Given the description of an element on the screen output the (x, y) to click on. 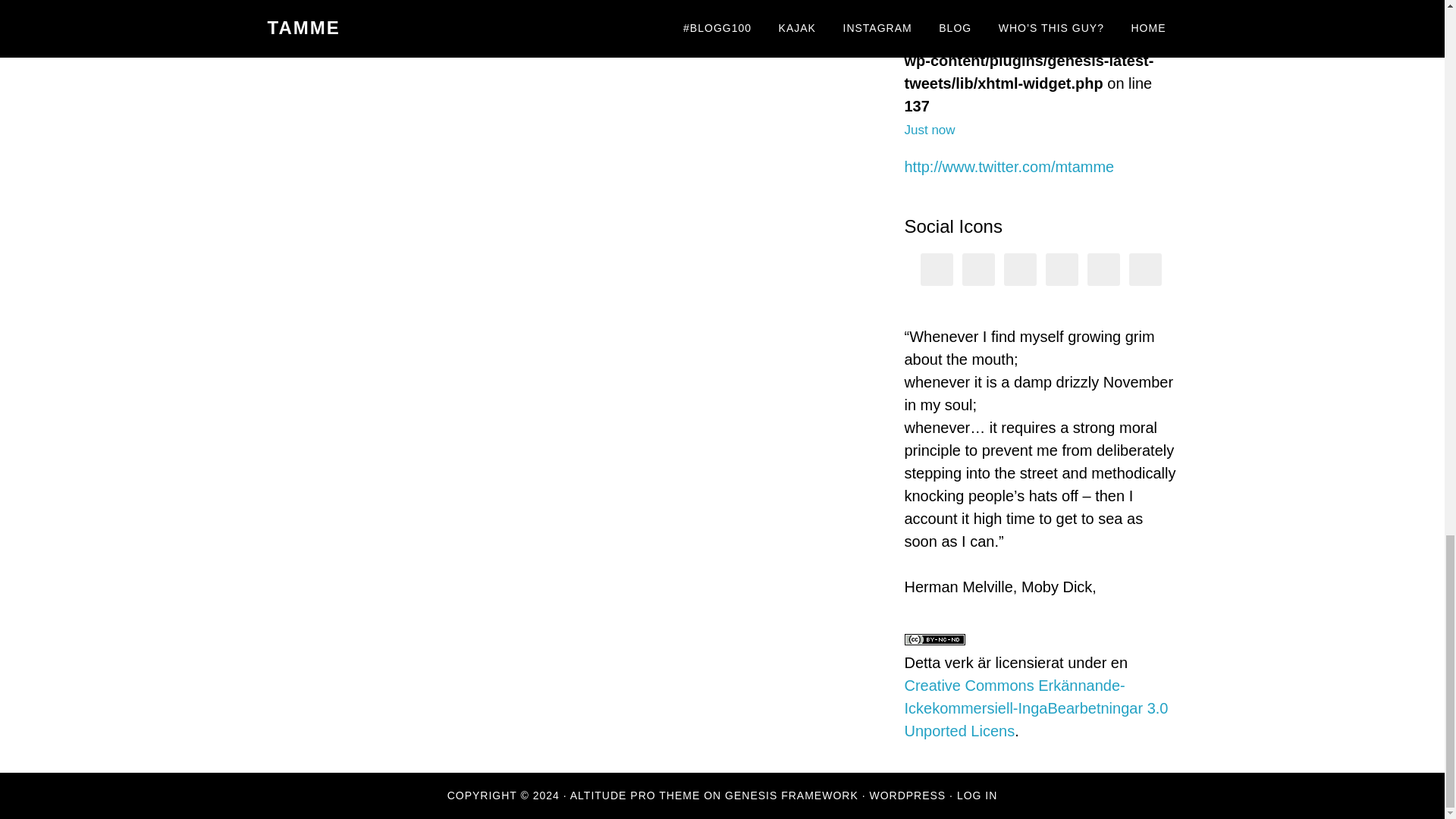
WORDPRESS (906, 795)
Just now (929, 128)
GENESIS FRAMEWORK (792, 795)
ALTITUDE PRO THEME (635, 795)
LOG IN (976, 795)
